Given the description of an element on the screen output the (x, y) to click on. 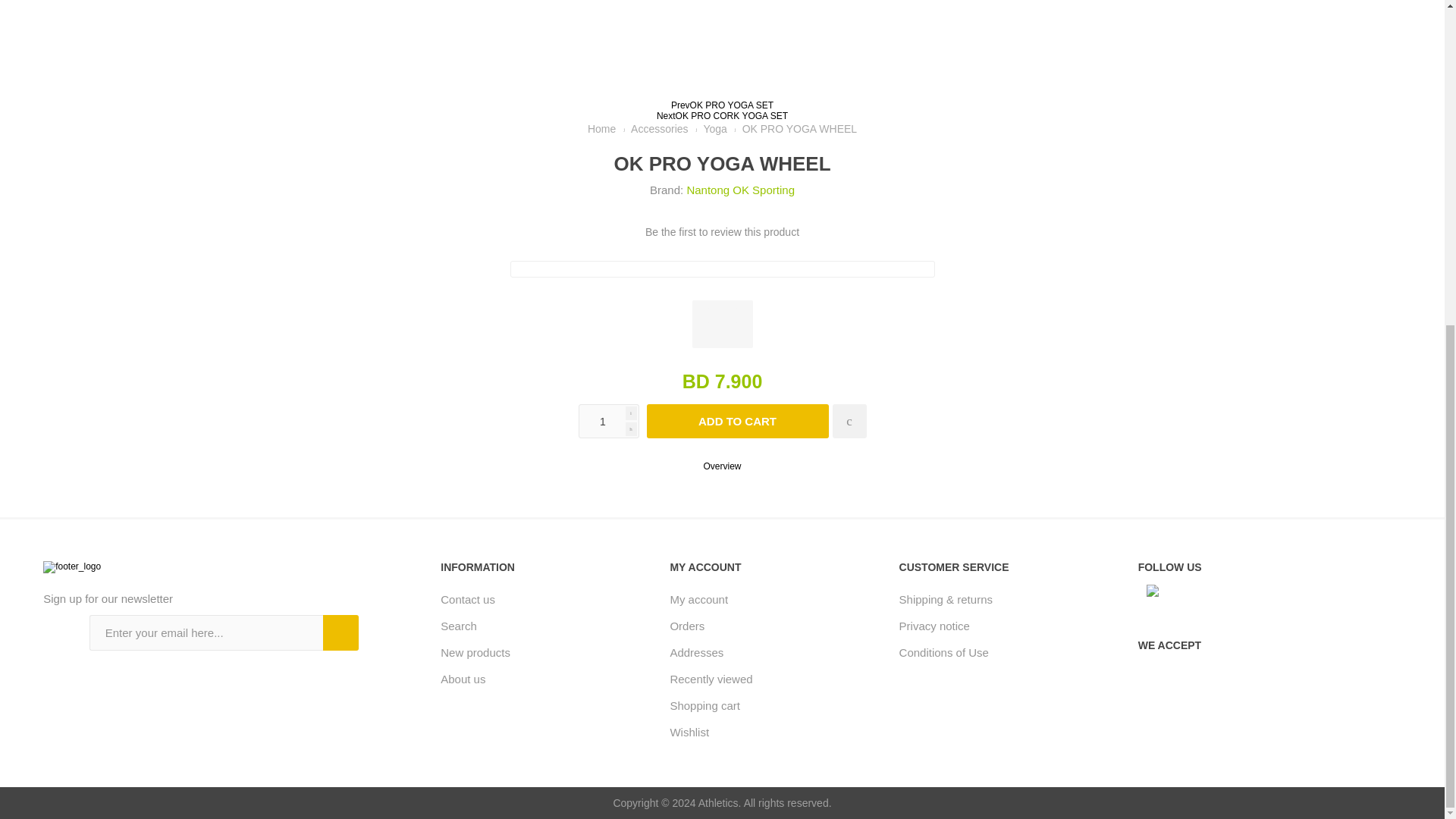
Subscribe (340, 632)
Add to Cart (737, 421)
1 (608, 421)
